Given the description of an element on the screen output the (x, y) to click on. 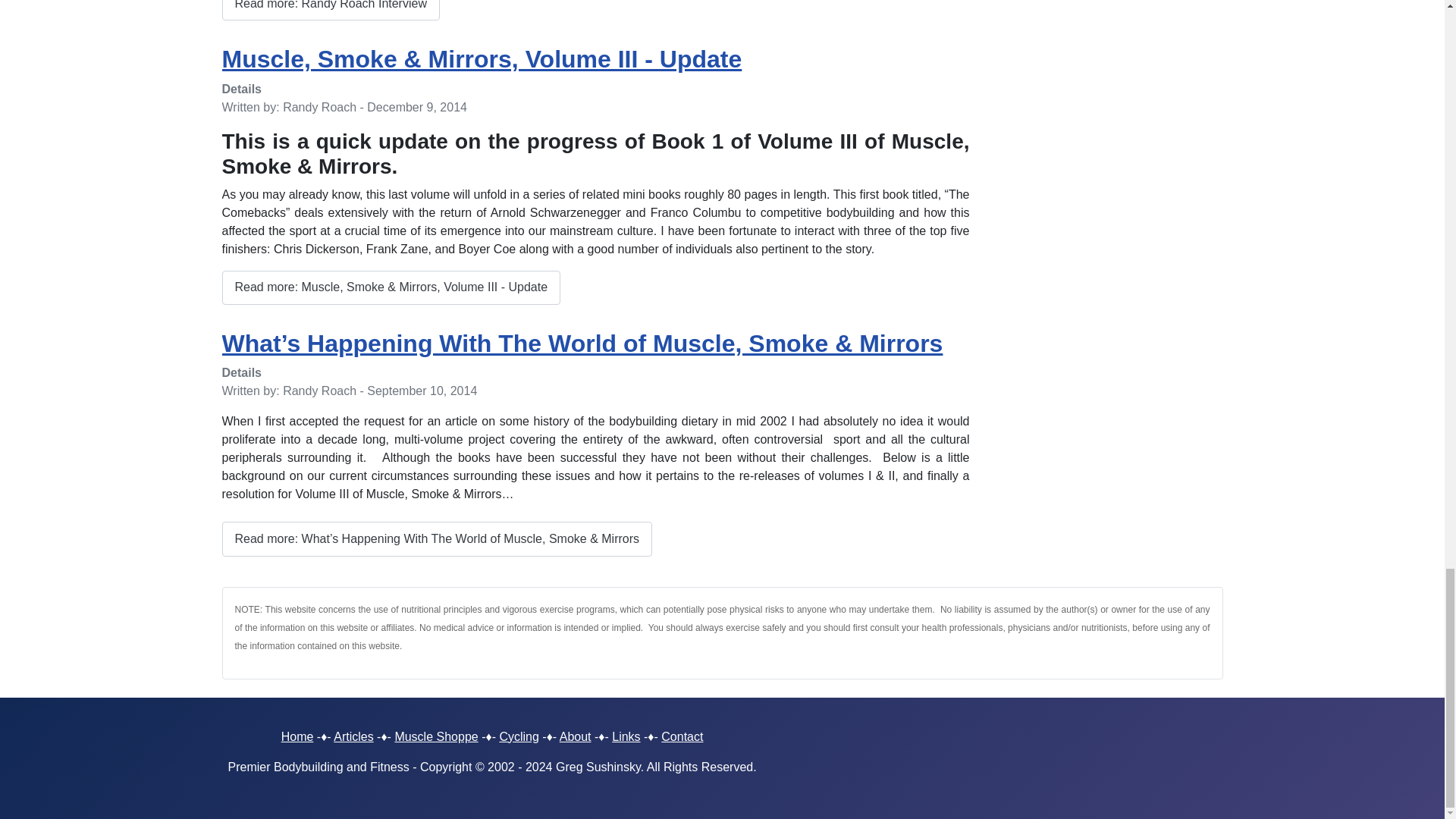
Cycling (518, 736)
About Premier Bodybuilding and Fitness (575, 736)
Read more: Randy Roach Interview (330, 10)
Articles (352, 736)
Home (297, 736)
Contact (682, 736)
Muscle Shoppe (435, 736)
Links (625, 736)
